Given the description of an element on the screen output the (x, y) to click on. 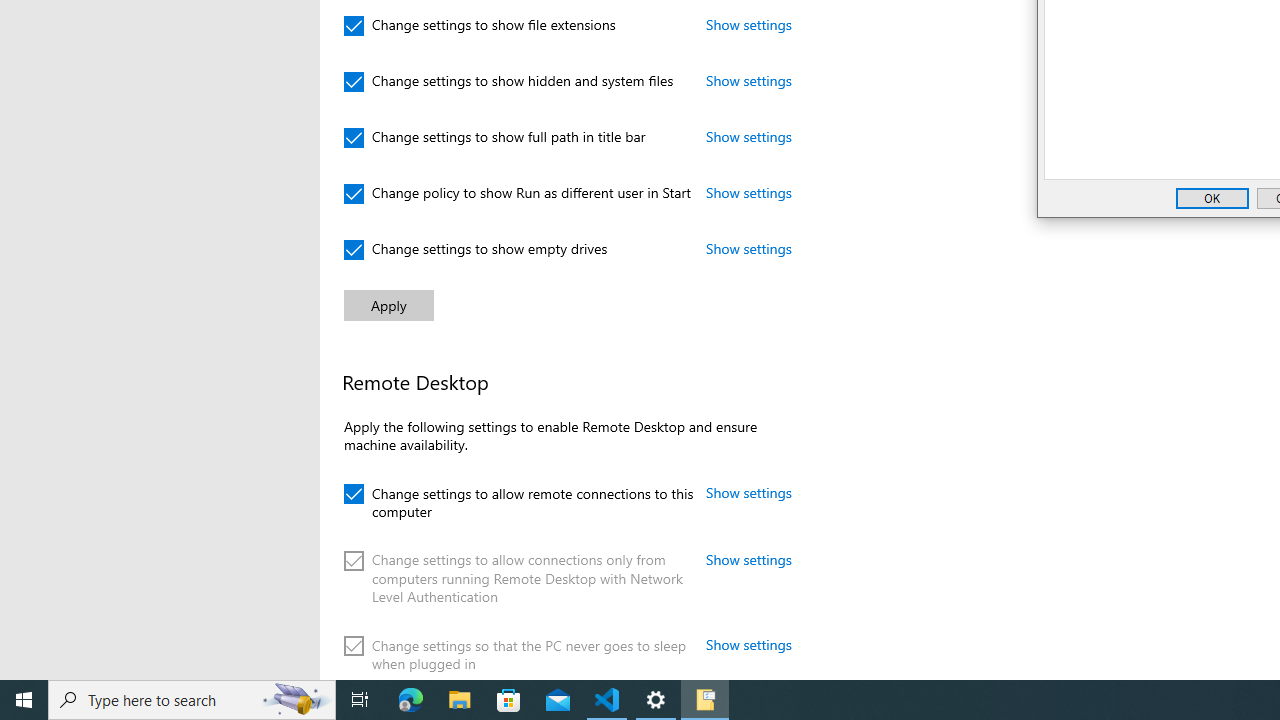
Microsoft Edge (411, 699)
Microsoft Store (509, 699)
Visual Studio Code - 1 running window (607, 699)
File Explorer Options - 1 running window (704, 699)
Settings - 1 running window (656, 699)
Search highlights icon opens search home window (295, 699)
Start (24, 699)
File Explorer (460, 699)
Task View (359, 699)
OK (1212, 198)
Type here to search (191, 699)
